Given the description of an element on the screen output the (x, y) to click on. 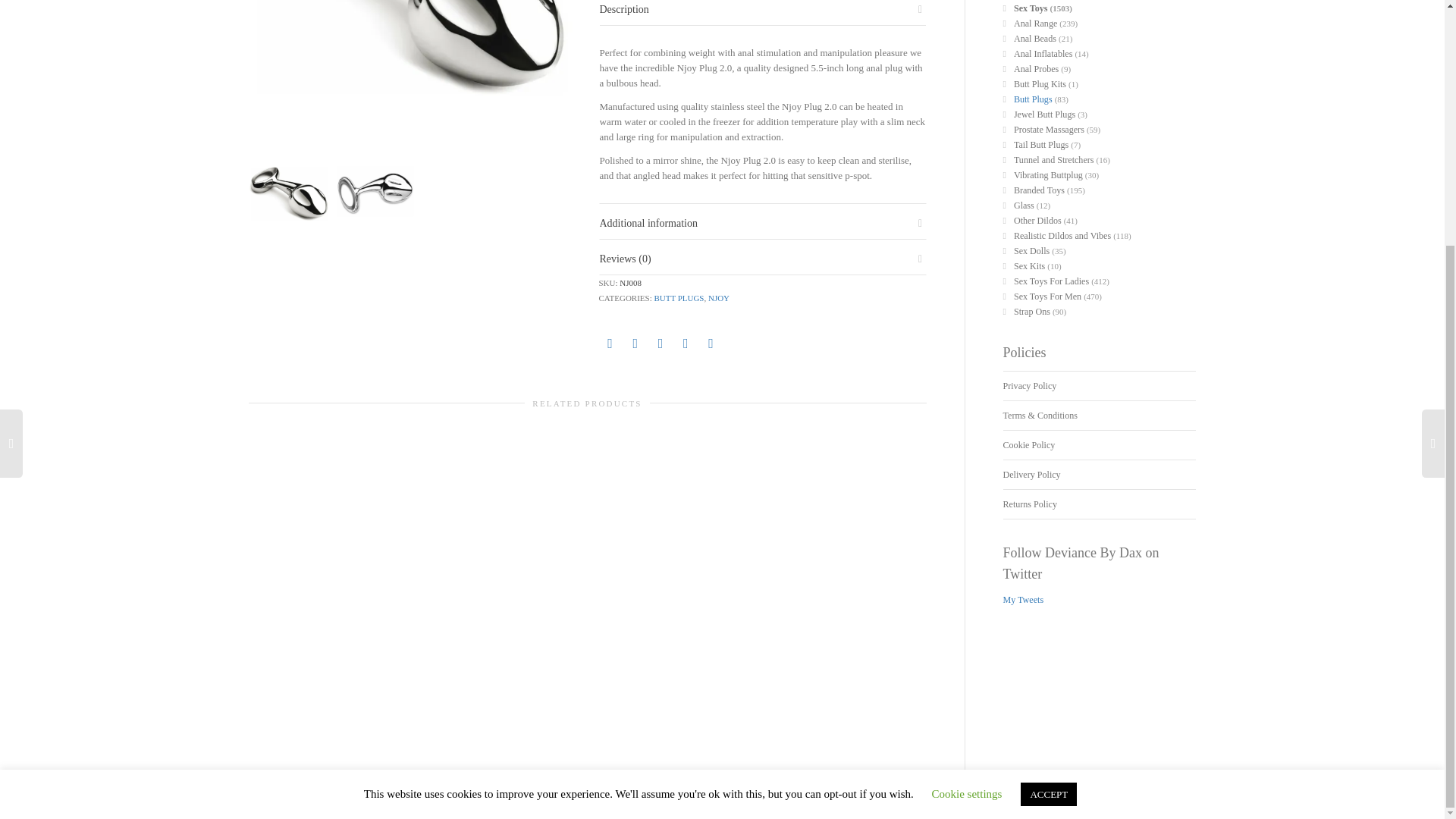
Additional information (647, 223)
Description (622, 9)
nj008x1.jpg (412, 70)
NJOY (718, 297)
BUTT PLUGS (678, 297)
nj008x1.jpg (289, 190)
nj008x2.jpg (373, 190)
